Given the description of an element on the screen output the (x, y) to click on. 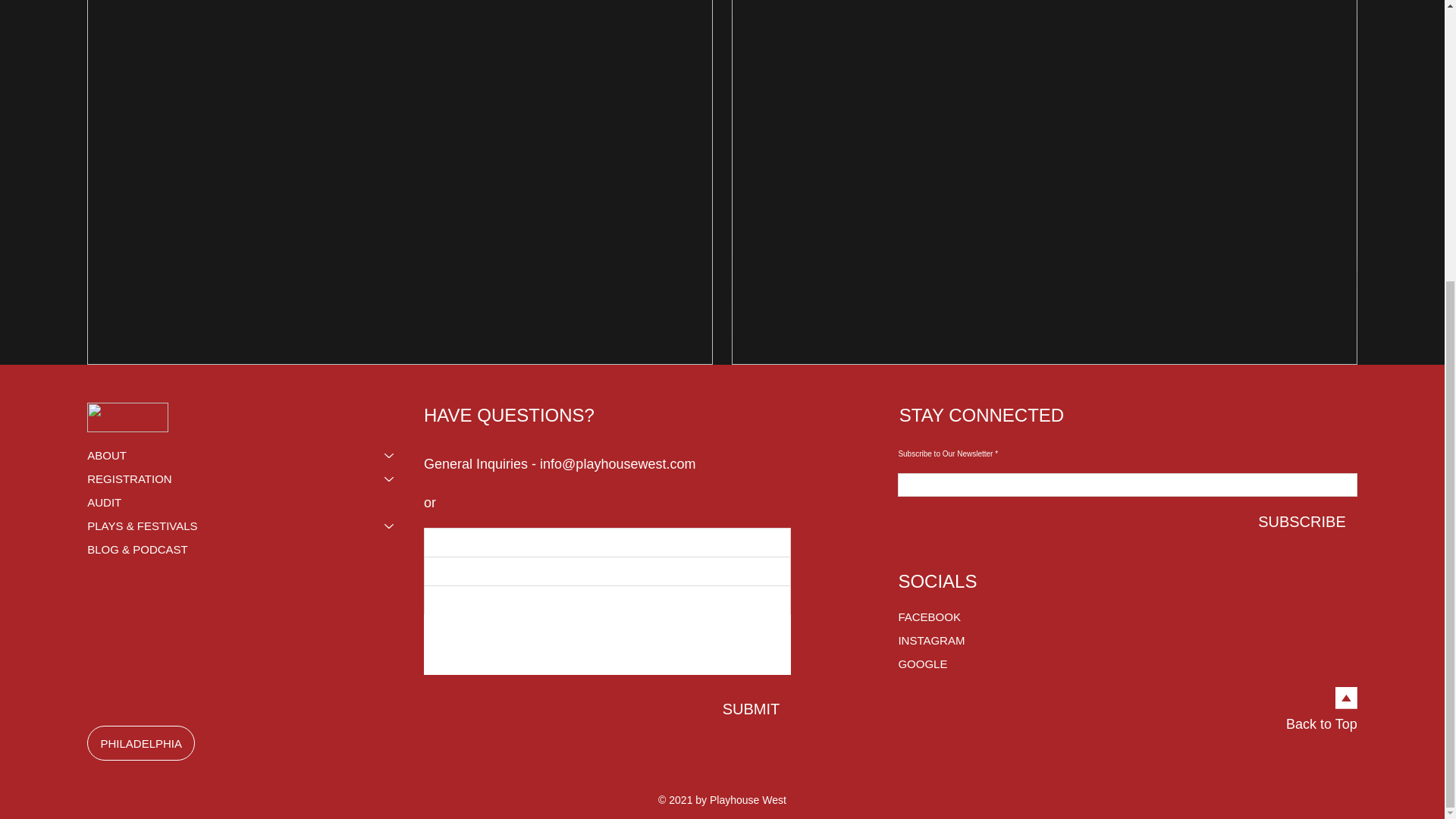
GOOGLE (951, 663)
PHILADELPHIA (141, 742)
AUDIT (248, 502)
FACEBOOK (951, 616)
SUBMIT (751, 709)
INSTAGRAM (951, 639)
SUBSCRIBE (1301, 521)
